Given the description of an element on the screen output the (x, y) to click on. 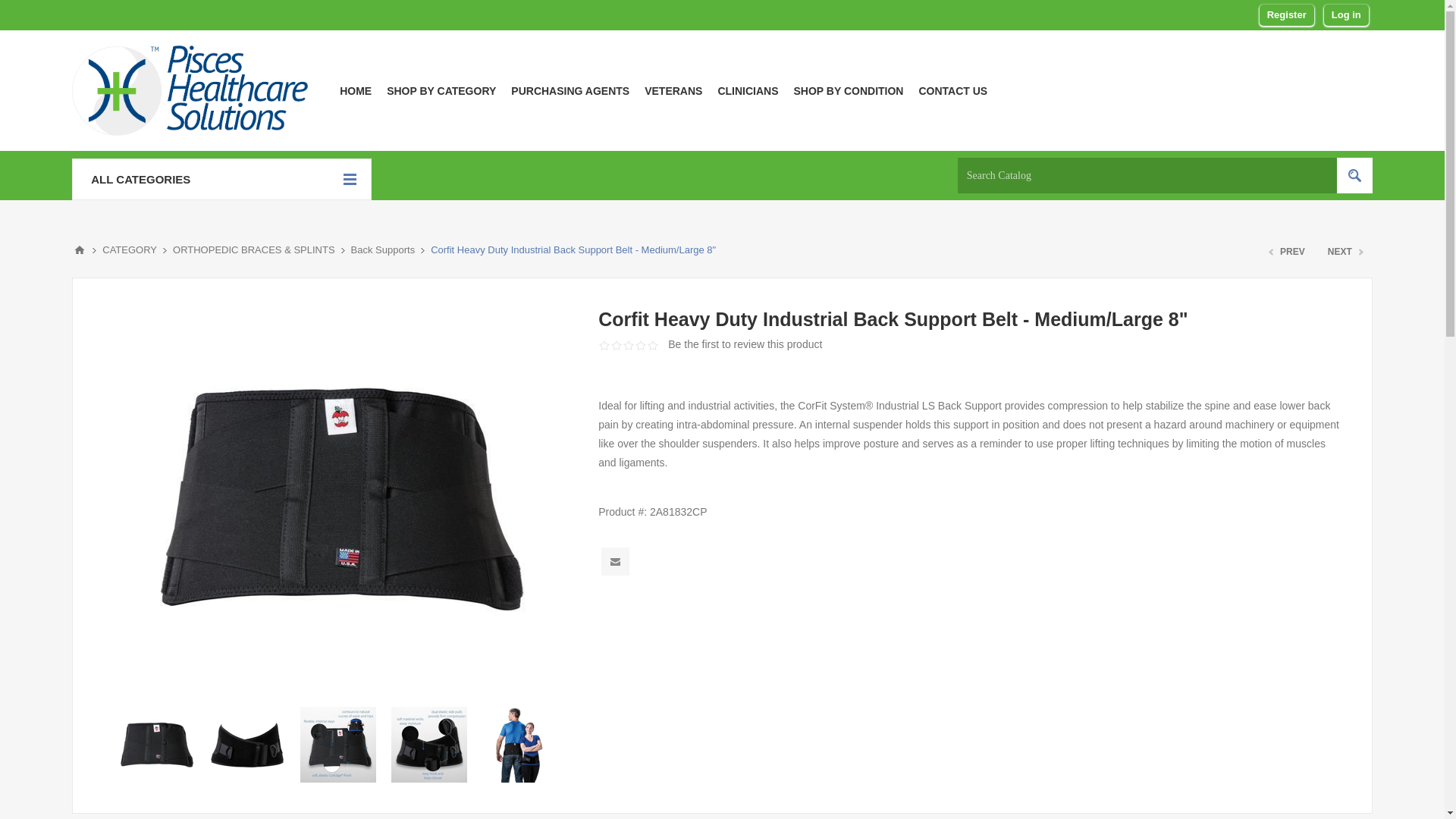
HOME (354, 90)
CLINICIANS (748, 90)
Register (1286, 14)
Search (1354, 175)
Purchasing Agents (570, 90)
Shop By Condition (848, 90)
SHOP BY CONDITION (848, 90)
SHOP BY CATEGORY (440, 90)
Log in (1345, 14)
CONTACT US (952, 90)
VETERANS (673, 90)
Veterans (673, 90)
CONTACT US (952, 90)
Shop By Category (440, 90)
PURCHASING AGENTS (570, 90)
